Given the description of an element on the screen output the (x, y) to click on. 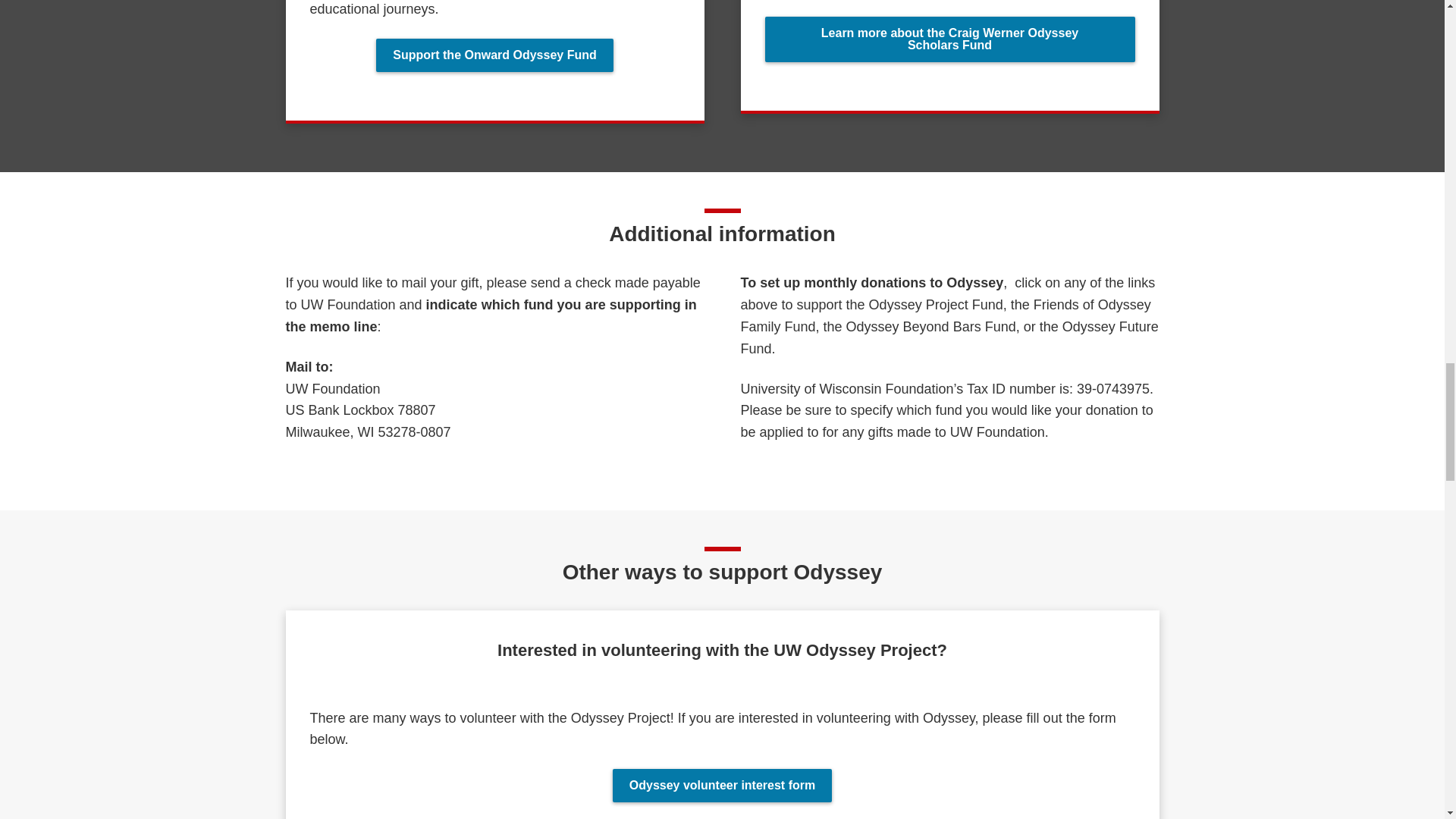
Support the Onward Odyssey Fund (493, 55)
Learn more about the Craig Werner Odyssey Scholars Fund (949, 39)
Odyssey volunteer interest form (721, 785)
